Given the description of an element on the screen output the (x, y) to click on. 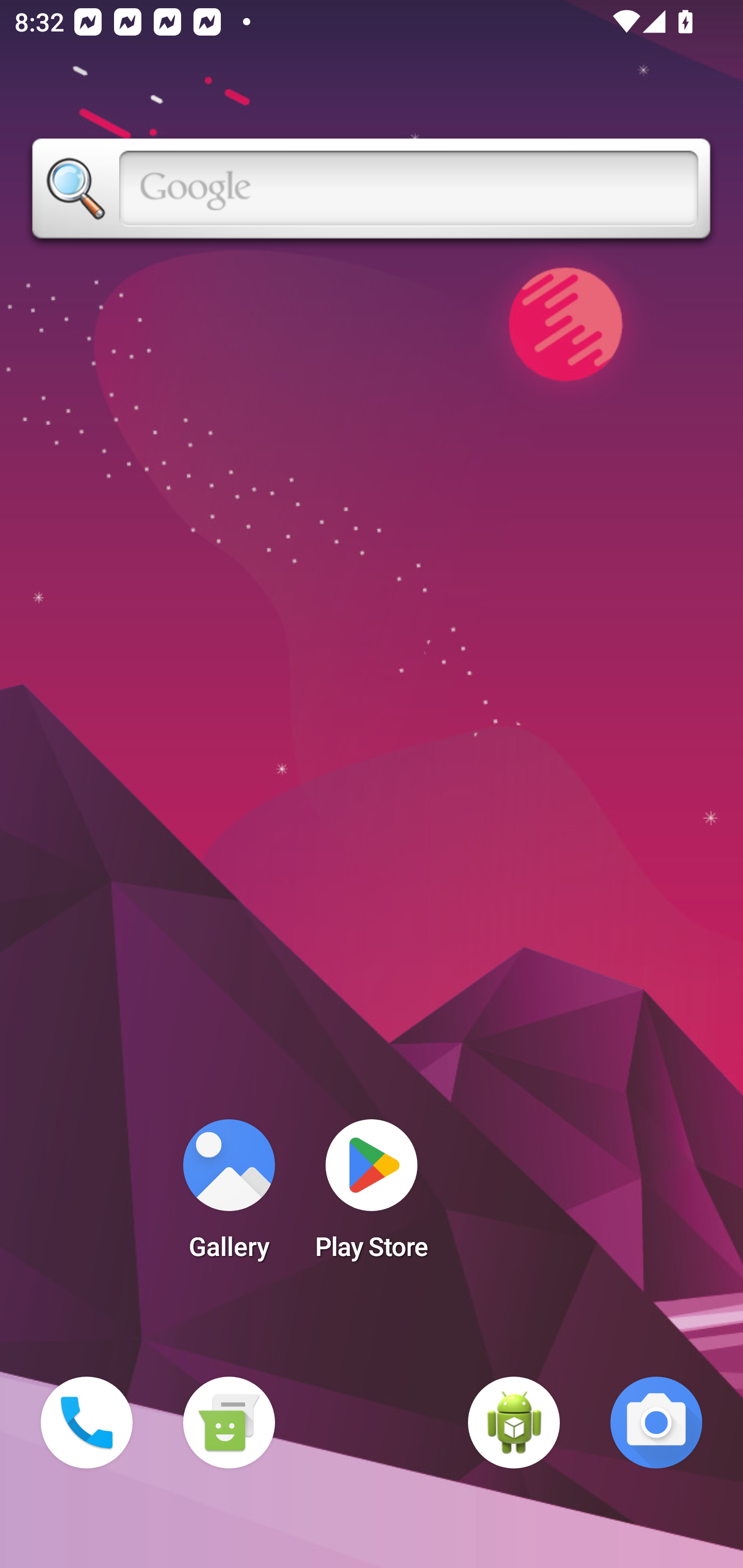
Gallery (228, 1195)
Play Store (371, 1195)
Phone (86, 1422)
Messaging (228, 1422)
WebView Browser Tester (513, 1422)
Camera (656, 1422)
